Given the description of an element on the screen output the (x, y) to click on. 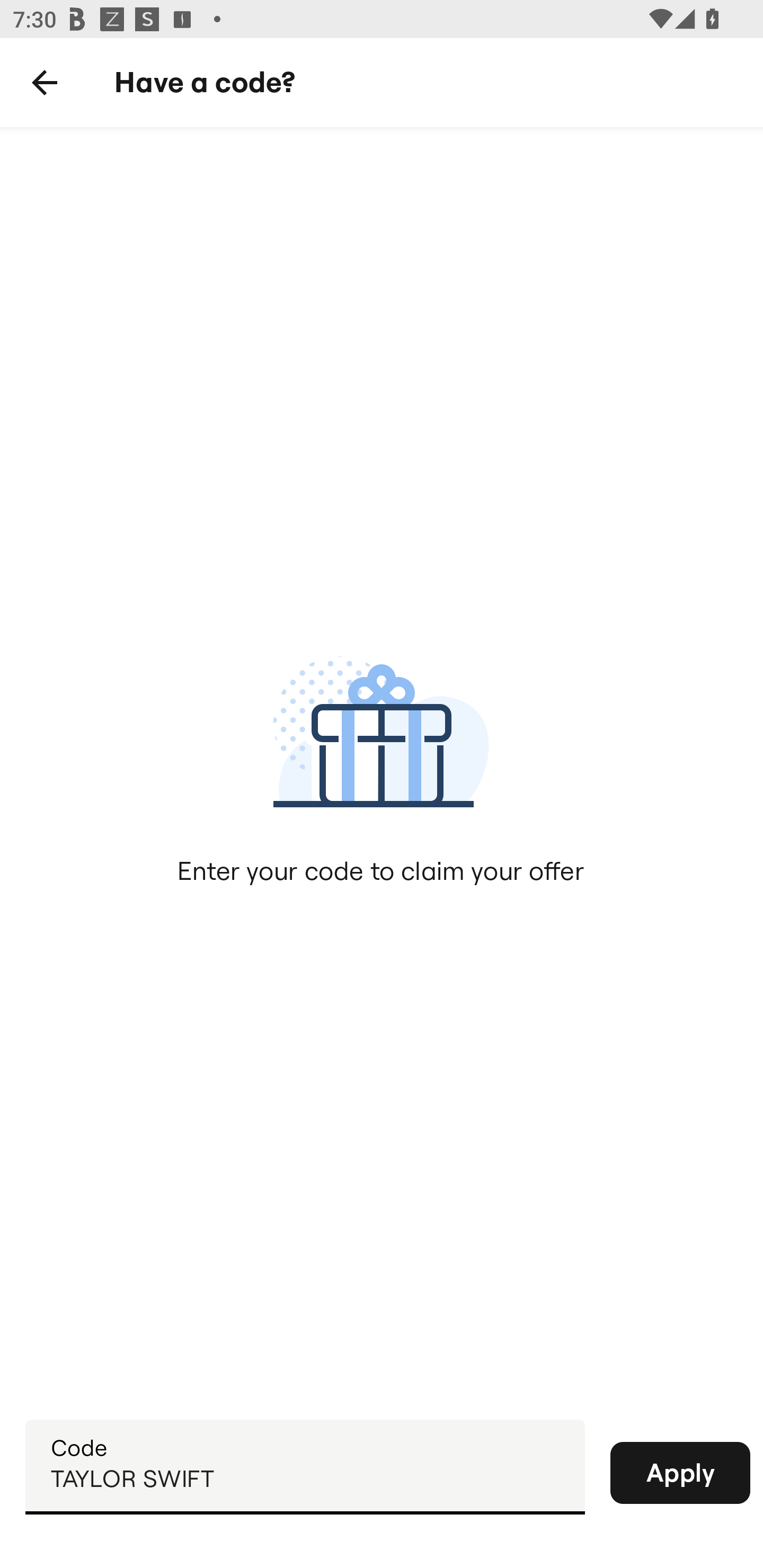
Back (44, 82)
TAYLOR SWIFT (305, 1466)
Apply (680, 1473)
